Given the description of an element on the screen output the (x, y) to click on. 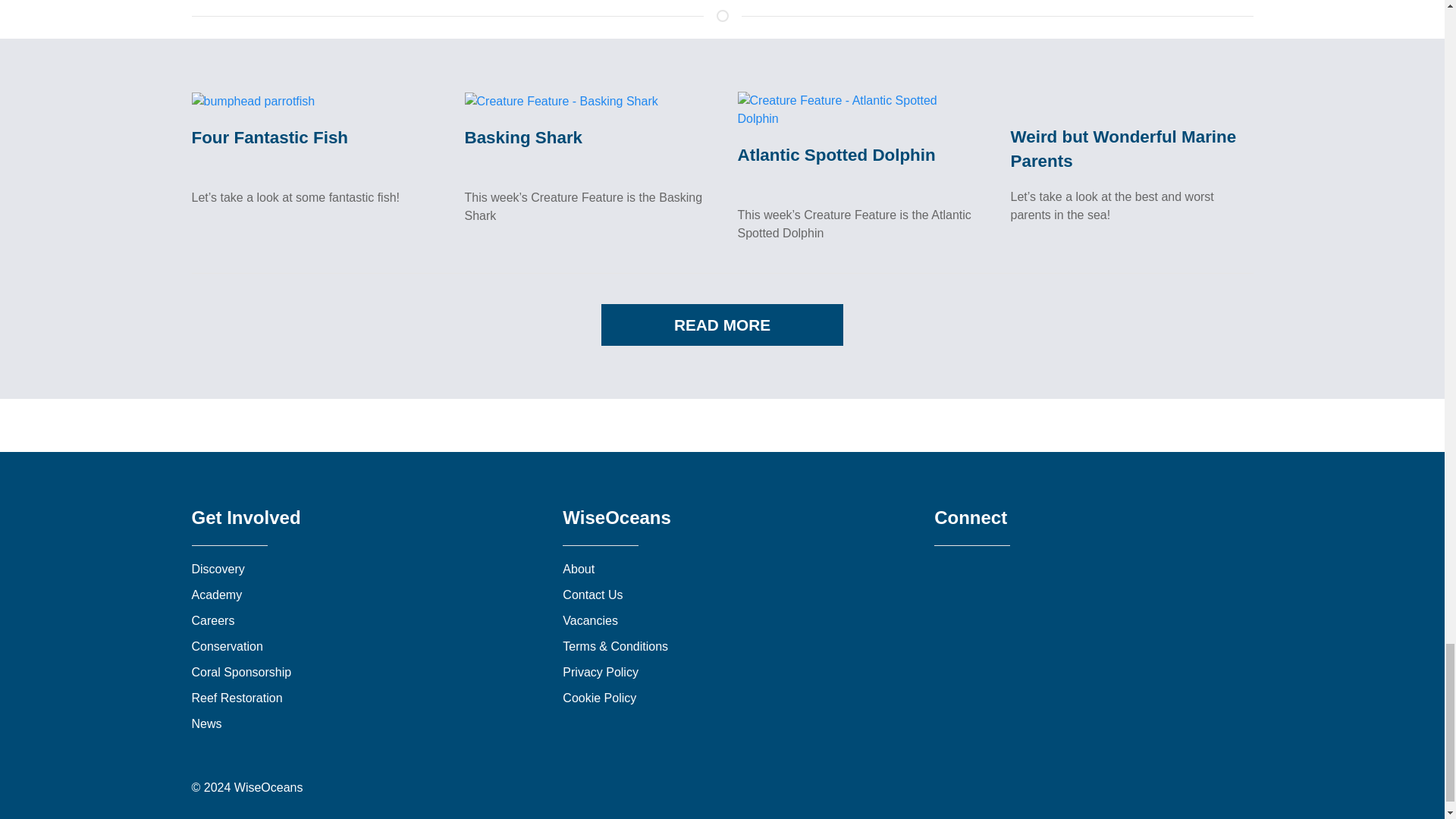
Basking Shark (523, 137)
Basking Shark (561, 100)
Four Fantastic Fish (268, 137)
Atlantic Spotted Dolphin (857, 108)
Atlantic Spotted Dolphin (835, 154)
Basking Shark (523, 137)
Four Fantastic Fish (268, 137)
Atlantic Spotted Dolphin (835, 154)
Four Fantastic Fish (252, 100)
Weird but Wonderful Marine Parents (1123, 148)
